Given the description of an element on the screen output the (x, y) to click on. 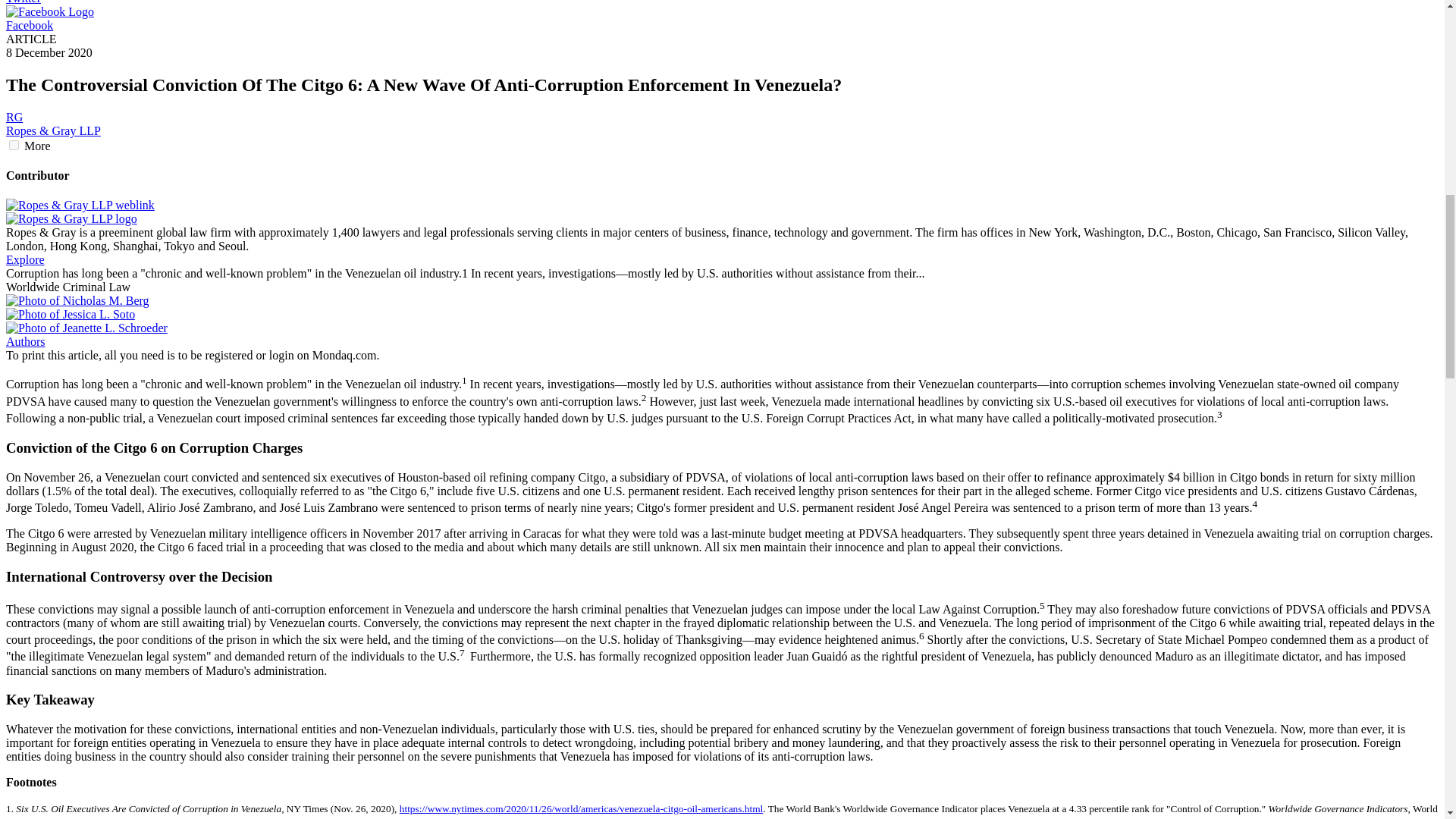
on (13, 144)
